Given the description of an element on the screen output the (x, y) to click on. 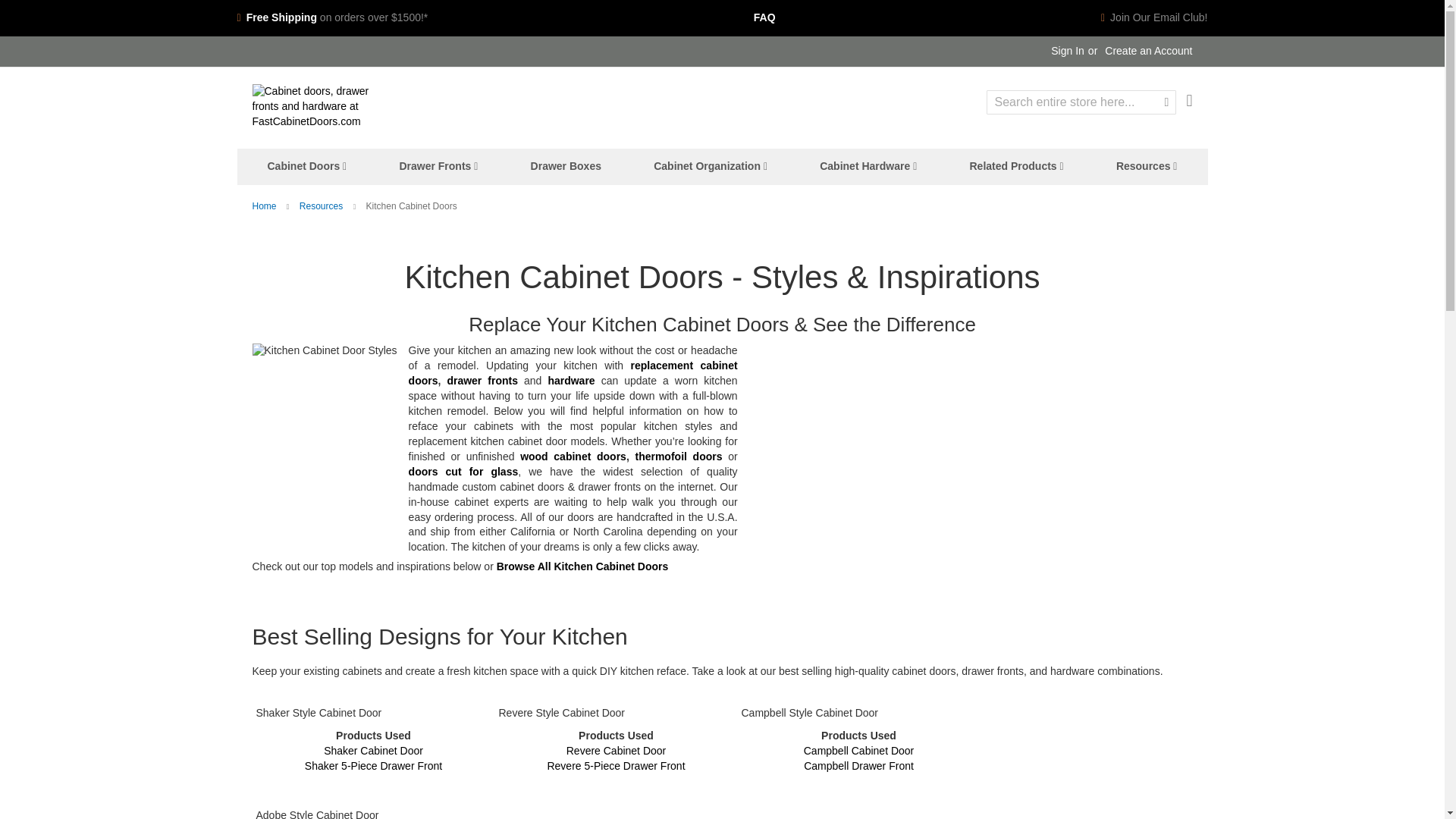
Related Products (1015, 166)
Shop All Cabinet Doors (573, 372)
Cabinet Organization (710, 166)
FAQ (765, 17)
Cabinet Hardware (868, 166)
Create an Account (1148, 51)
Drawer Boxes (566, 166)
Cabinet Doors (306, 166)
Drawer Fronts (437, 166)
Shop Thermofoil Cabinet Doors (678, 456)
Shop All Drawer Fronts (482, 380)
Shop All Hardware (570, 380)
Join Our Email Club! (1154, 17)
Go to Home Page (263, 205)
Shop Wood Cabinet Doors (572, 456)
